Given the description of an element on the screen output the (x, y) to click on. 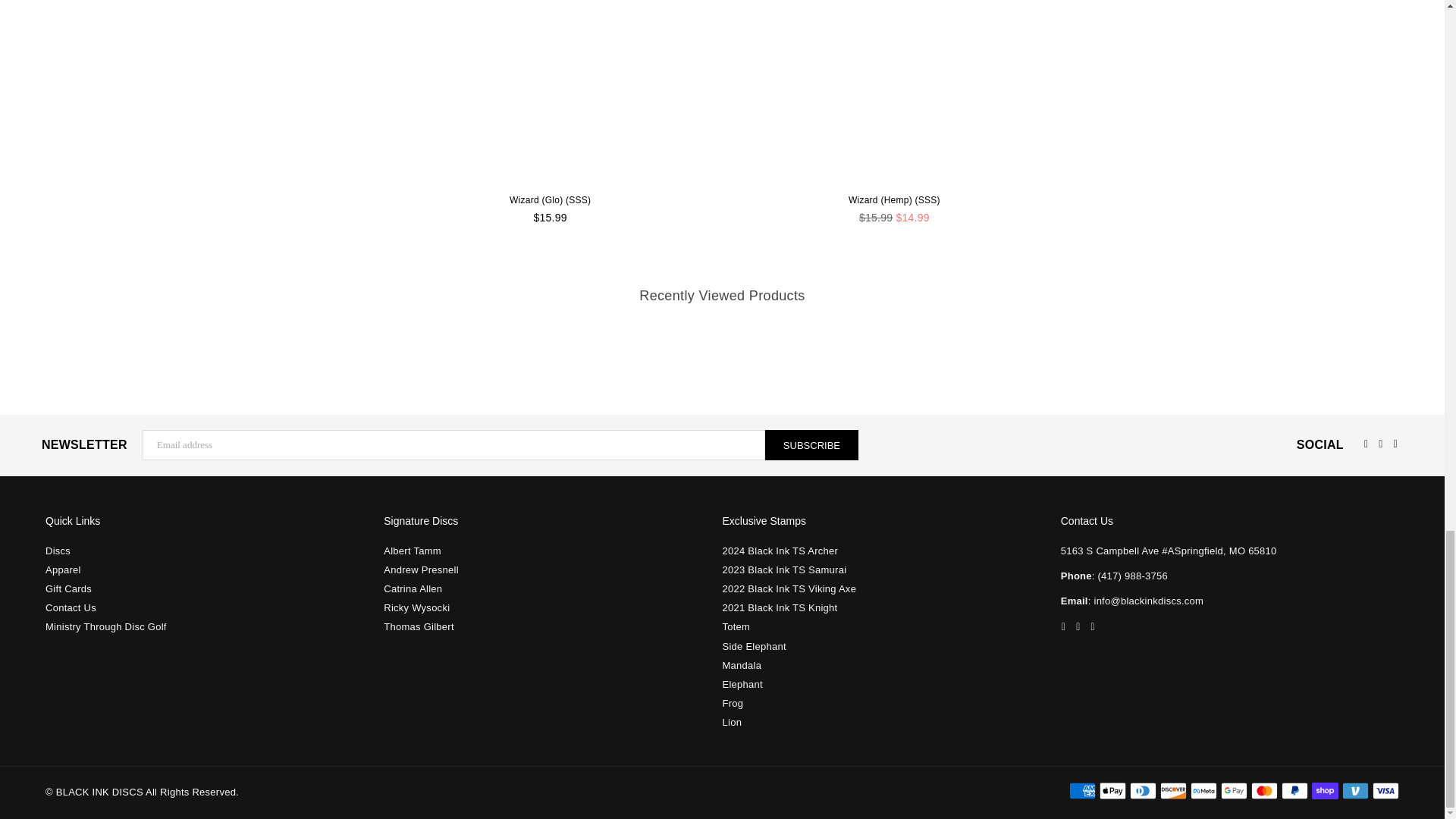
Shop Pay (1324, 791)
Mastercard (1264, 791)
Black Ink Discs on Facebook (1063, 626)
Black Ink Discs on Facebook (1365, 443)
Meta Pay (1204, 791)
Discover (1173, 791)
Black Ink Discs on Instagram (1380, 443)
Apple Pay (1112, 791)
American Express (1082, 791)
Visa (1386, 791)
Google Pay (1234, 791)
Diners Club (1142, 791)
Black Ink Discs on Instagram (1077, 626)
PayPal (1294, 791)
Venmo (1355, 791)
